Given the description of an element on the screen output the (x, y) to click on. 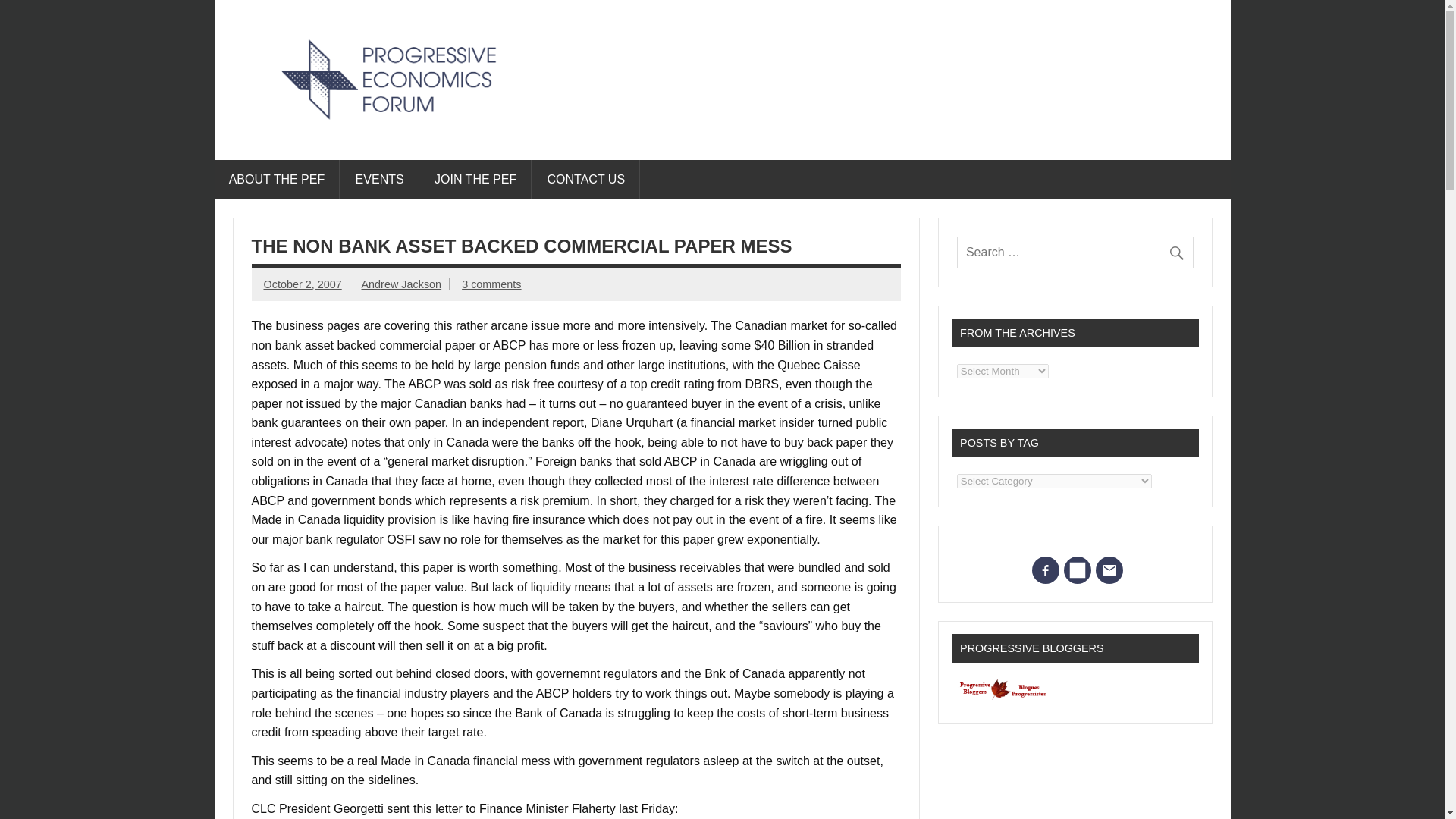
CONTACT US (586, 179)
View all posts by Andrew Jackson (401, 284)
Andrew Jackson (401, 284)
The Progressive Economics Forum (504, 138)
October 2, 2007 (302, 284)
3 comments (491, 284)
ABOUT THE PEF (276, 179)
JOIN THE PEF (476, 179)
1:13 pm (302, 284)
EVENTS (379, 179)
